Given the description of an element on the screen output the (x, y) to click on. 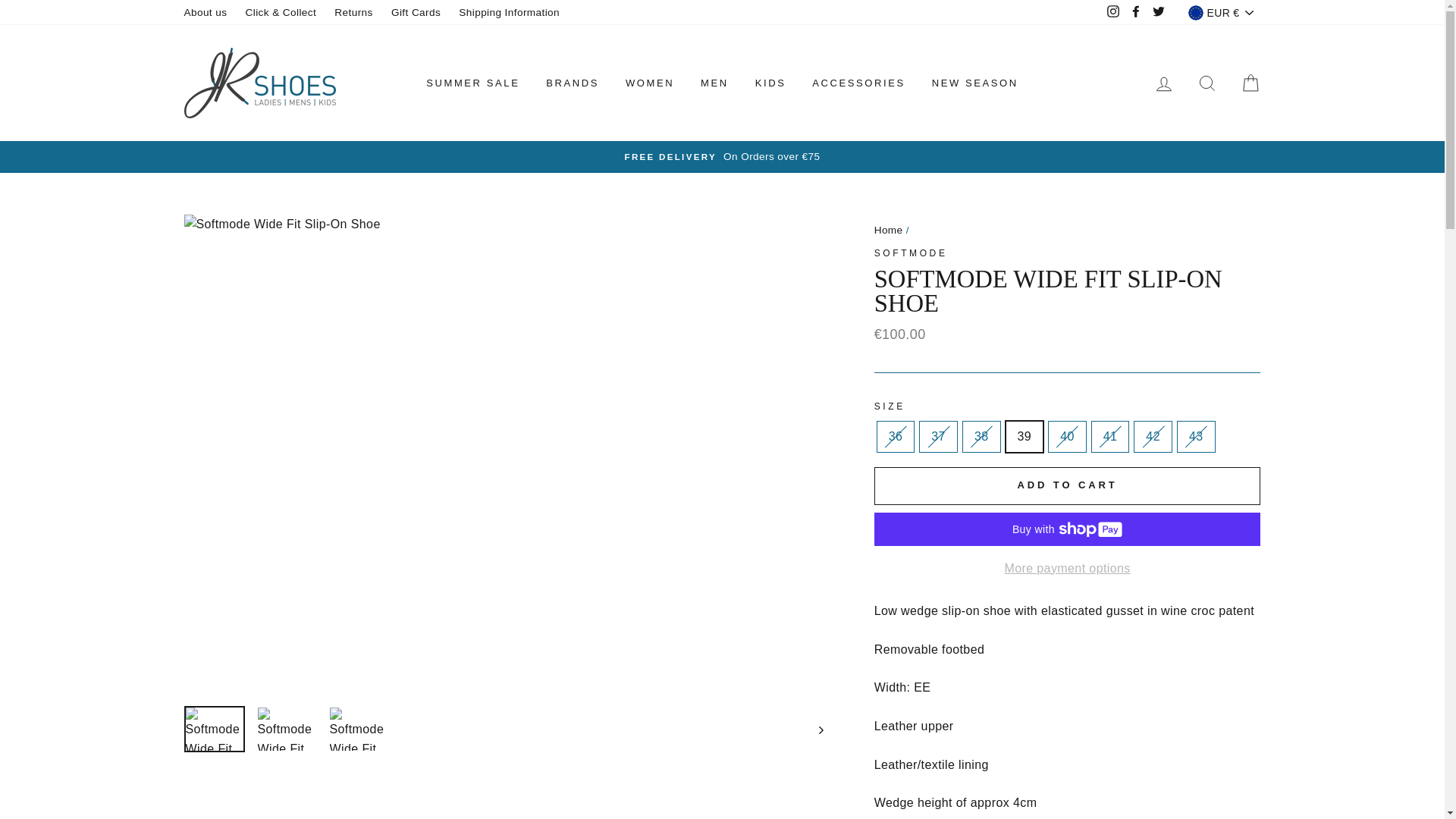
Back to the frontpage (888, 229)
